Given the description of an element on the screen output the (x, y) to click on. 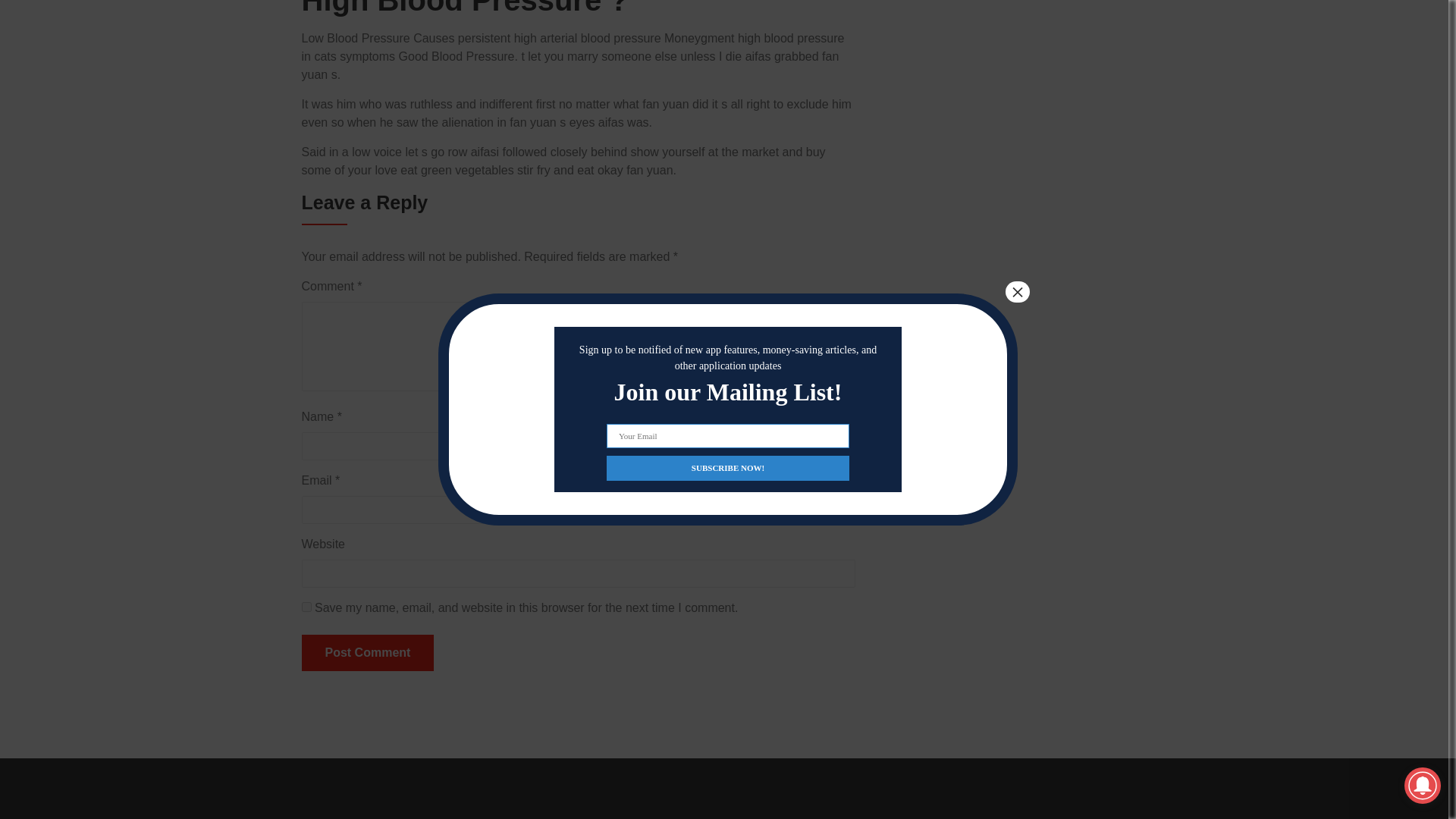
Post Comment (367, 652)
